Given the description of an element on the screen output the (x, y) to click on. 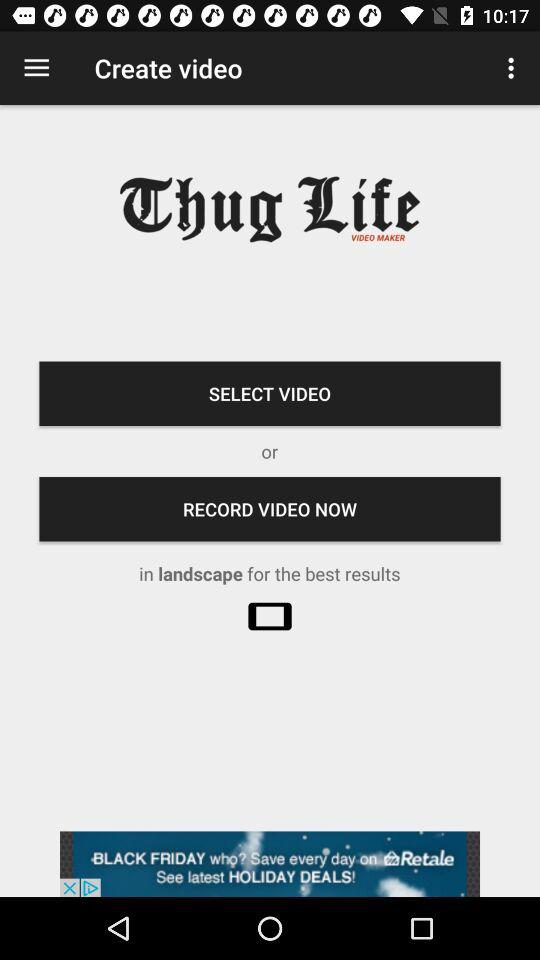
advatisment (270, 864)
